Given the description of an element on the screen output the (x, y) to click on. 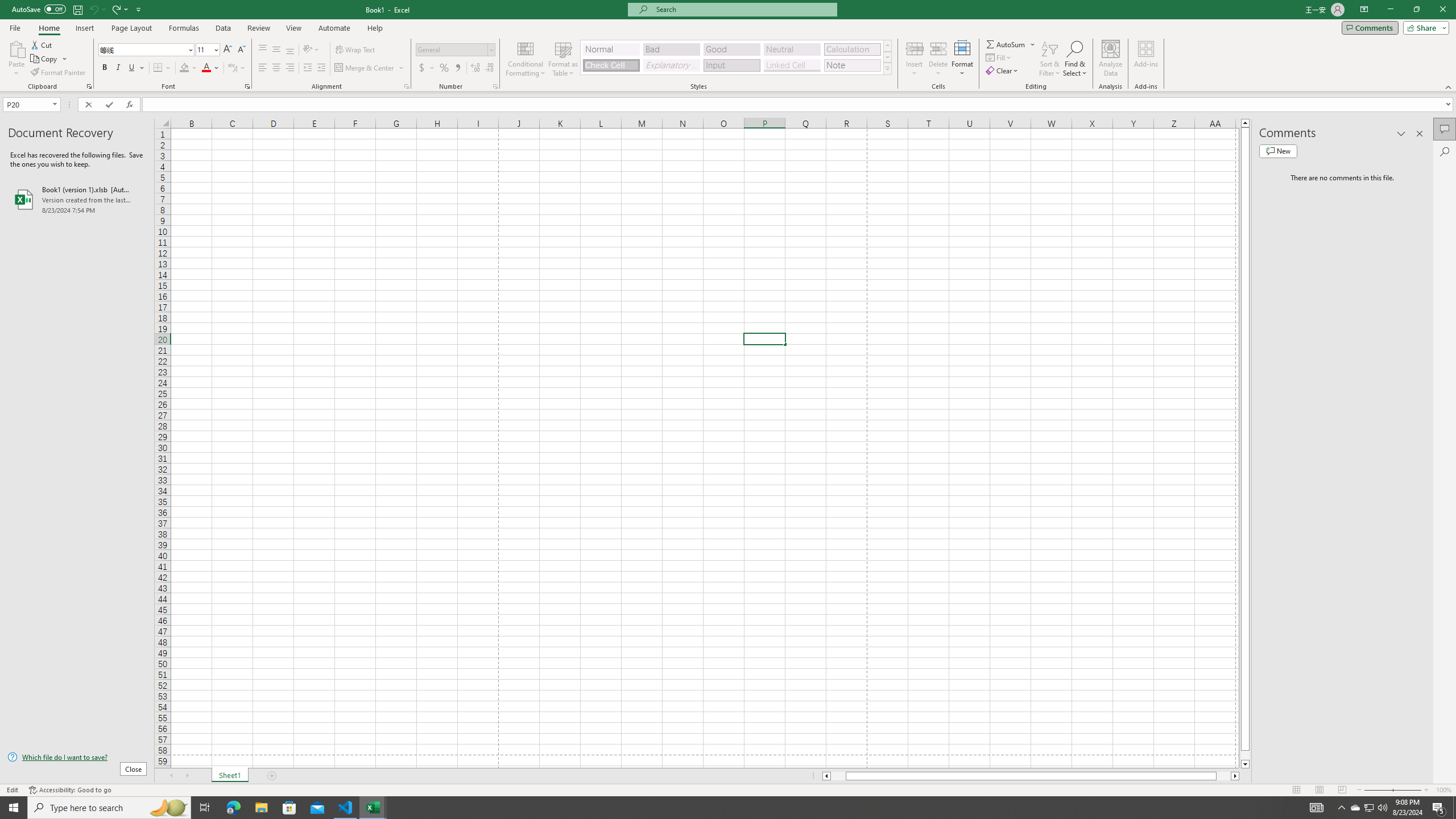
Format (962, 58)
Number Format (451, 49)
Font Color (210, 67)
Check Cell (611, 65)
Cell Styles (887, 68)
Fill Color (188, 67)
Find & Select (1075, 58)
Format Cell Font (247, 85)
